Given the description of an element on the screen output the (x, y) to click on. 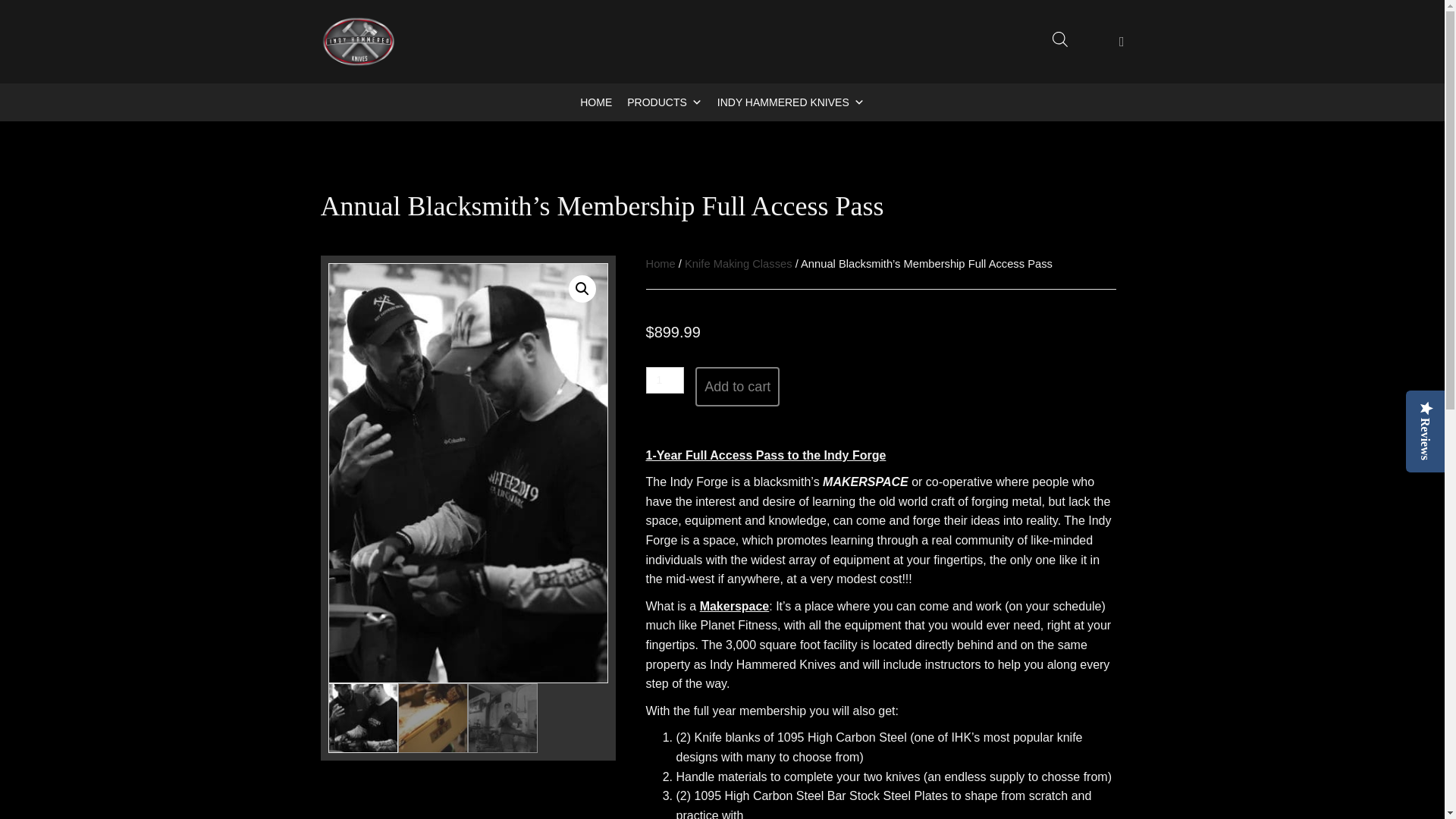
INDY HAMMERED KNIVES (791, 101)
1 (665, 379)
HOME (596, 101)
IHK (358, 41)
PRODUCTS (665, 101)
